Given the description of an element on the screen output the (x, y) to click on. 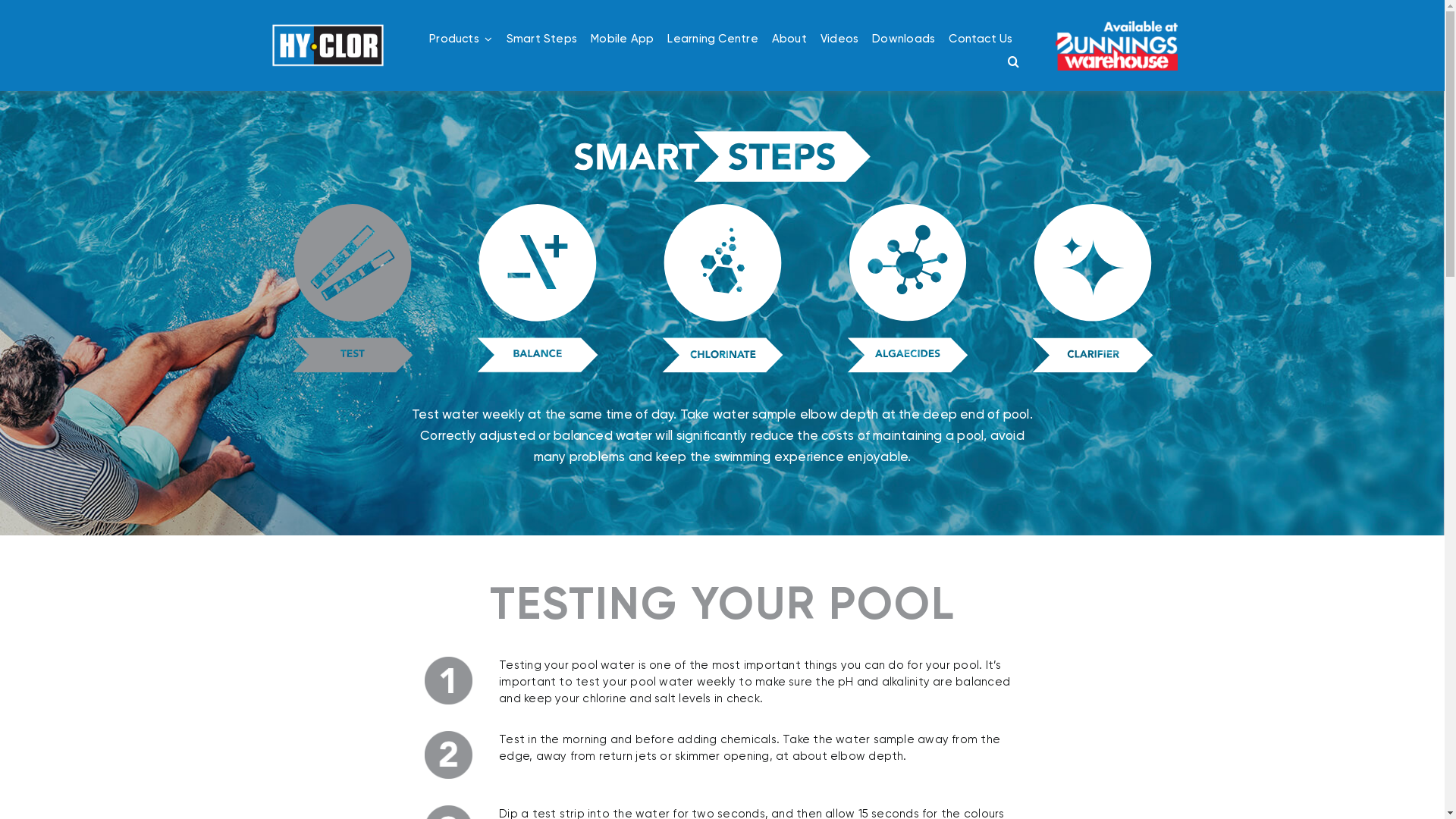
Videos Element type: text (839, 38)
Smart-Step_Header_White Element type: hover (721, 156)
Downloads Element type: text (903, 38)
Contact Us Element type: text (980, 38)
Search Element type: hover (1013, 61)
Mobile App Element type: text (621, 38)
Products Element type: text (460, 38)
Smart Steps Element type: text (541, 38)
About Element type: text (788, 38)
Learning Centre Element type: text (712, 38)
